Given the description of an element on the screen output the (x, y) to click on. 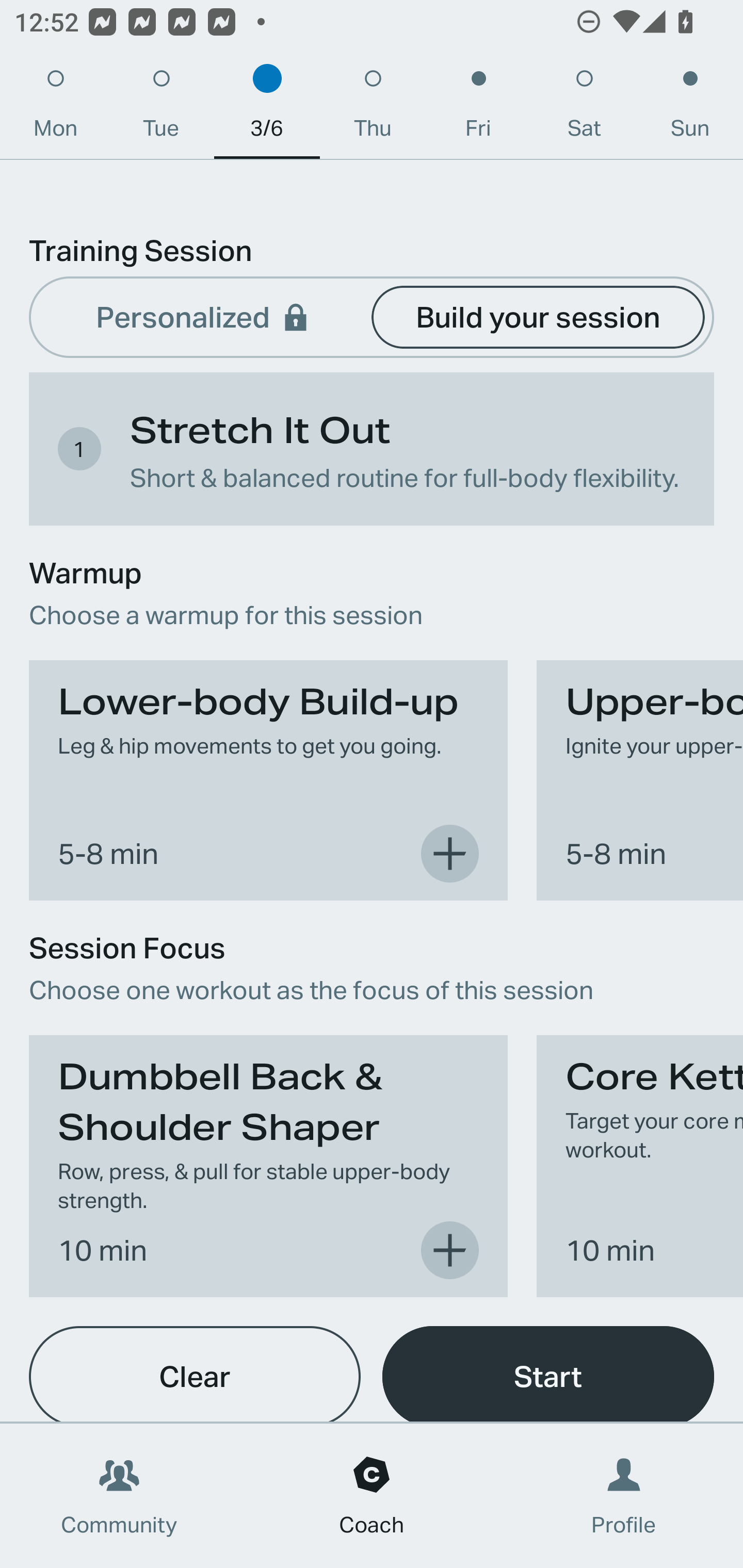
Mon (55, 108)
Tue (160, 108)
3/6 (266, 108)
Thu (372, 108)
Fri (478, 108)
Sat (584, 108)
Sun (690, 108)
Personalized (204, 315)
Build your session (538, 315)
Clear (194, 1374)
Start (548, 1374)
Community (119, 1495)
Profile (624, 1495)
